Given the description of an element on the screen output the (x, y) to click on. 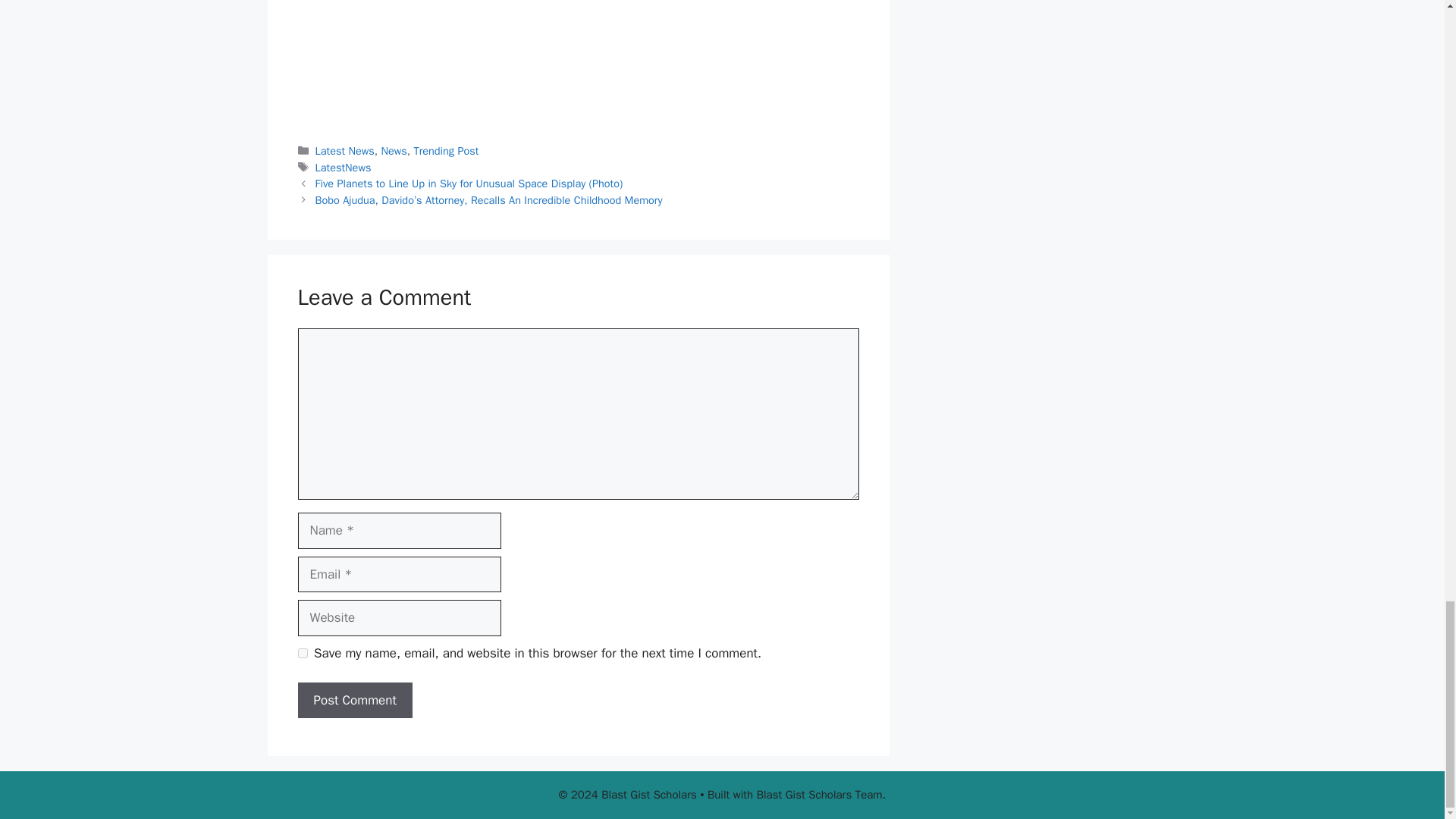
Post Comment (354, 700)
Post Comment (354, 700)
News (393, 151)
yes (302, 653)
LatestNews (343, 167)
Trending Post (446, 151)
Advertisement (578, 60)
Latest News (344, 151)
